Given the description of an element on the screen output the (x, y) to click on. 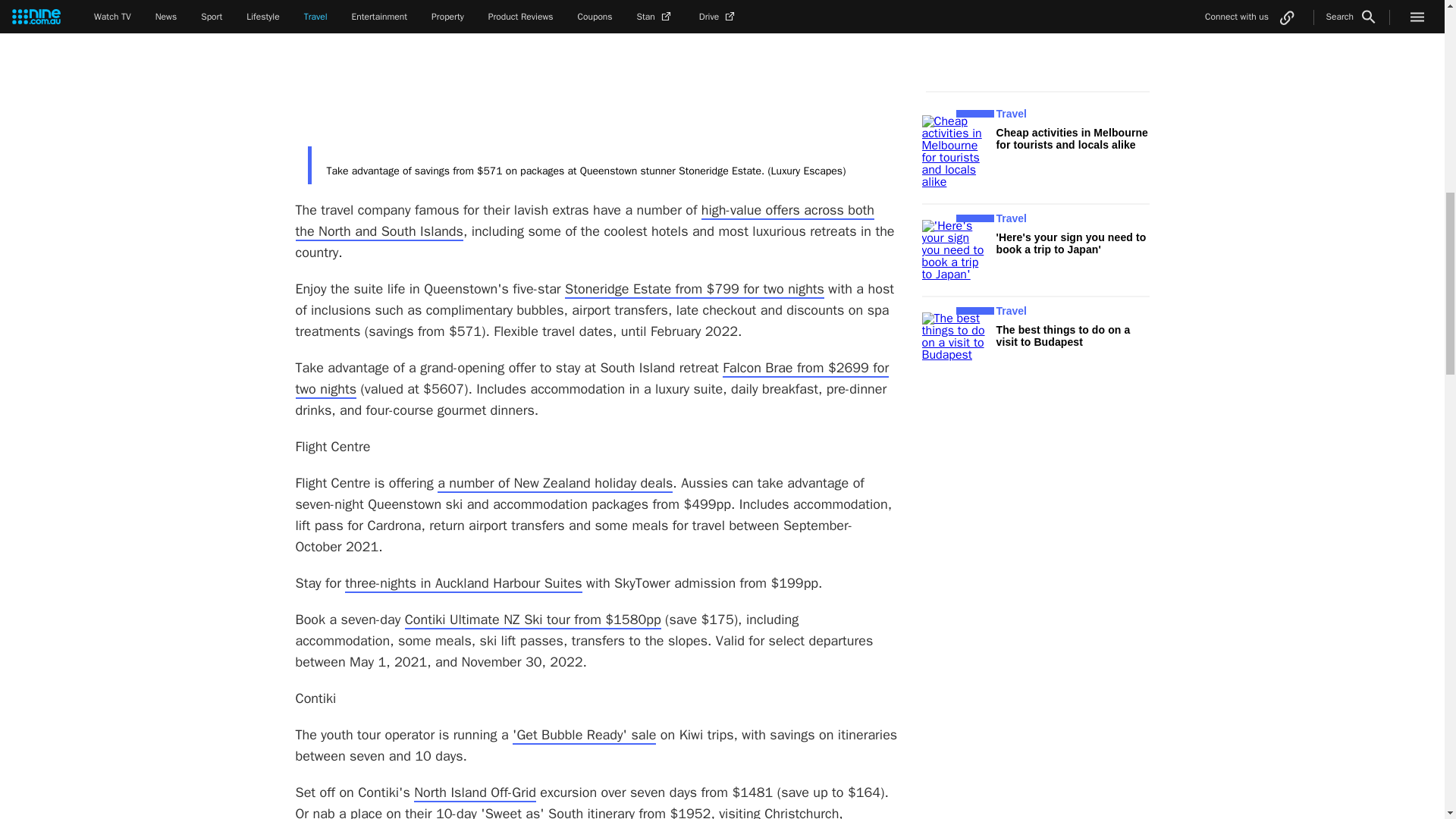
high-value offers across both the North and South Islands (585, 220)
high-value offers across both the North and South Islands (585, 220)
three-nights in Auckland Harbour Suites (462, 583)
'Sweet as' South (531, 812)
a number of New Zealand holiday deals (555, 484)
three-nights in Auckland Harbour Suites (462, 583)
'Get Bubble Ready' sale (584, 735)
North Island Off-Grid (474, 792)
a number of New Zealand holiday deals (555, 484)
